Given the description of an element on the screen output the (x, y) to click on. 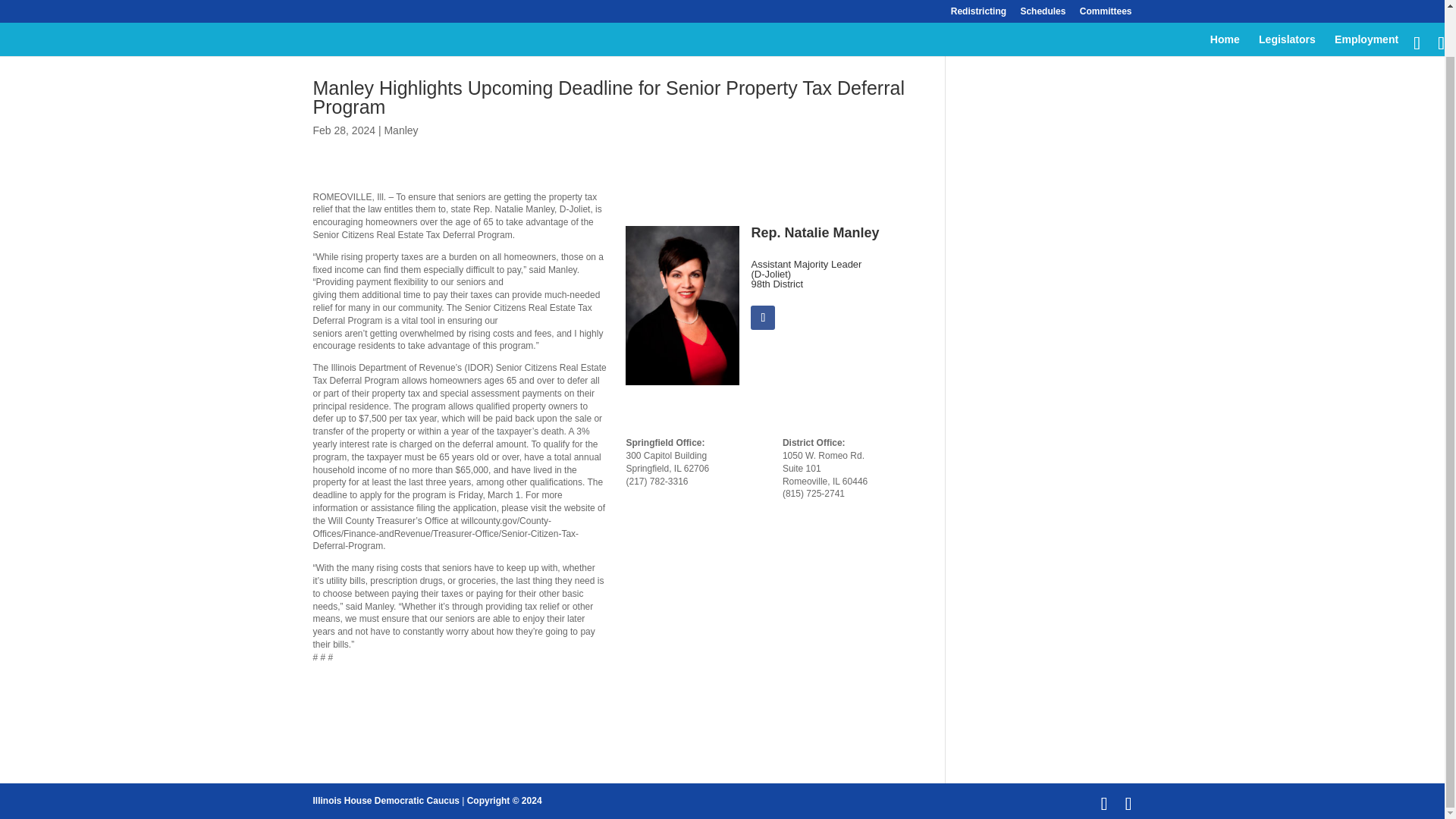
Manley (400, 130)
Illinois House Democratic Caucus (385, 800)
Home (1224, 3)
Employment (1366, 3)
Legislators (1287, 3)
Follow on Facebook (762, 317)
IL House Democrats (385, 800)
